Given the description of an element on the screen output the (x, y) to click on. 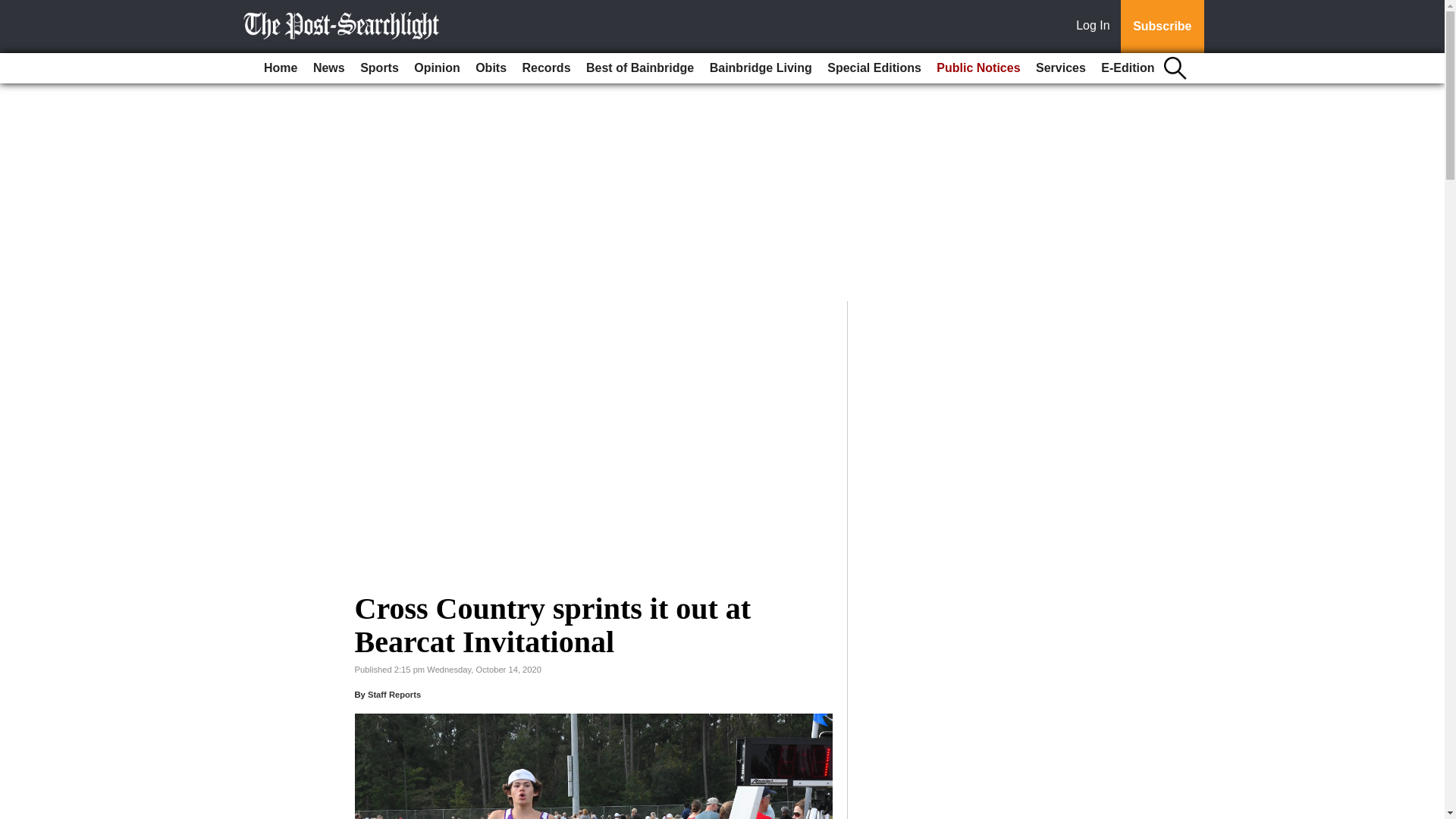
Bainbridge Living (760, 68)
Sports (378, 68)
Subscribe (1162, 26)
Best of Bainbridge (639, 68)
Services (1060, 68)
Staff Reports (394, 694)
E-Edition (1127, 68)
News (328, 68)
Obits (490, 68)
Log In (1095, 26)
Special Editions (874, 68)
Opinion (436, 68)
Public Notices (978, 68)
Home (279, 68)
Records (546, 68)
